Given the description of an element on the screen output the (x, y) to click on. 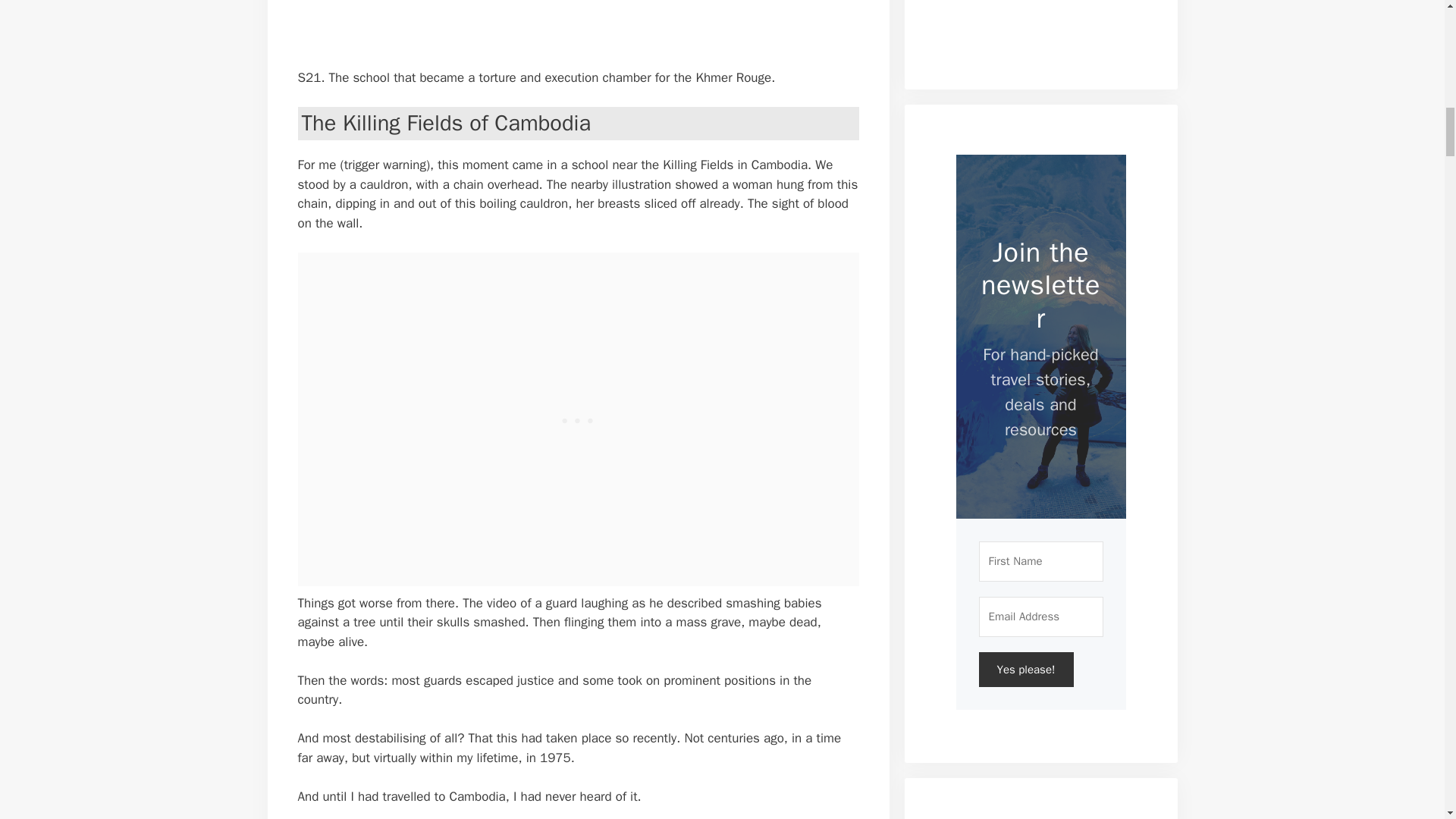
Dark tourism - S21 in Cambodia near the Killing Fields (547, 21)
